Given the description of an element on the screen output the (x, y) to click on. 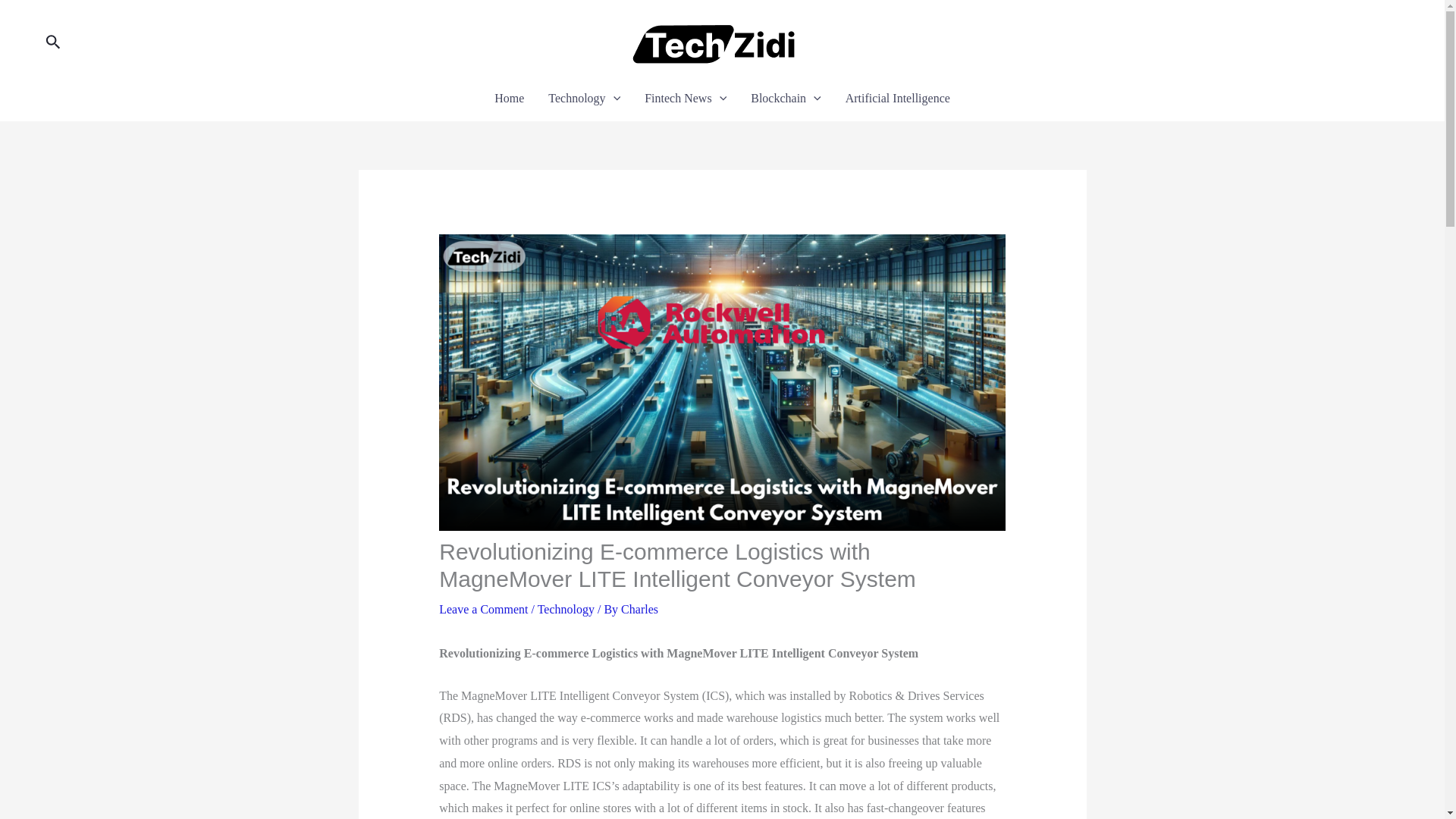
Leave a Comment (483, 608)
Blockchain (785, 97)
Home (508, 97)
View all posts by Charles (639, 608)
Artificial Intelligence (897, 97)
Technology (583, 97)
Charles (639, 608)
Technology (565, 608)
Fintech News (684, 97)
